Given the description of an element on the screen output the (x, y) to click on. 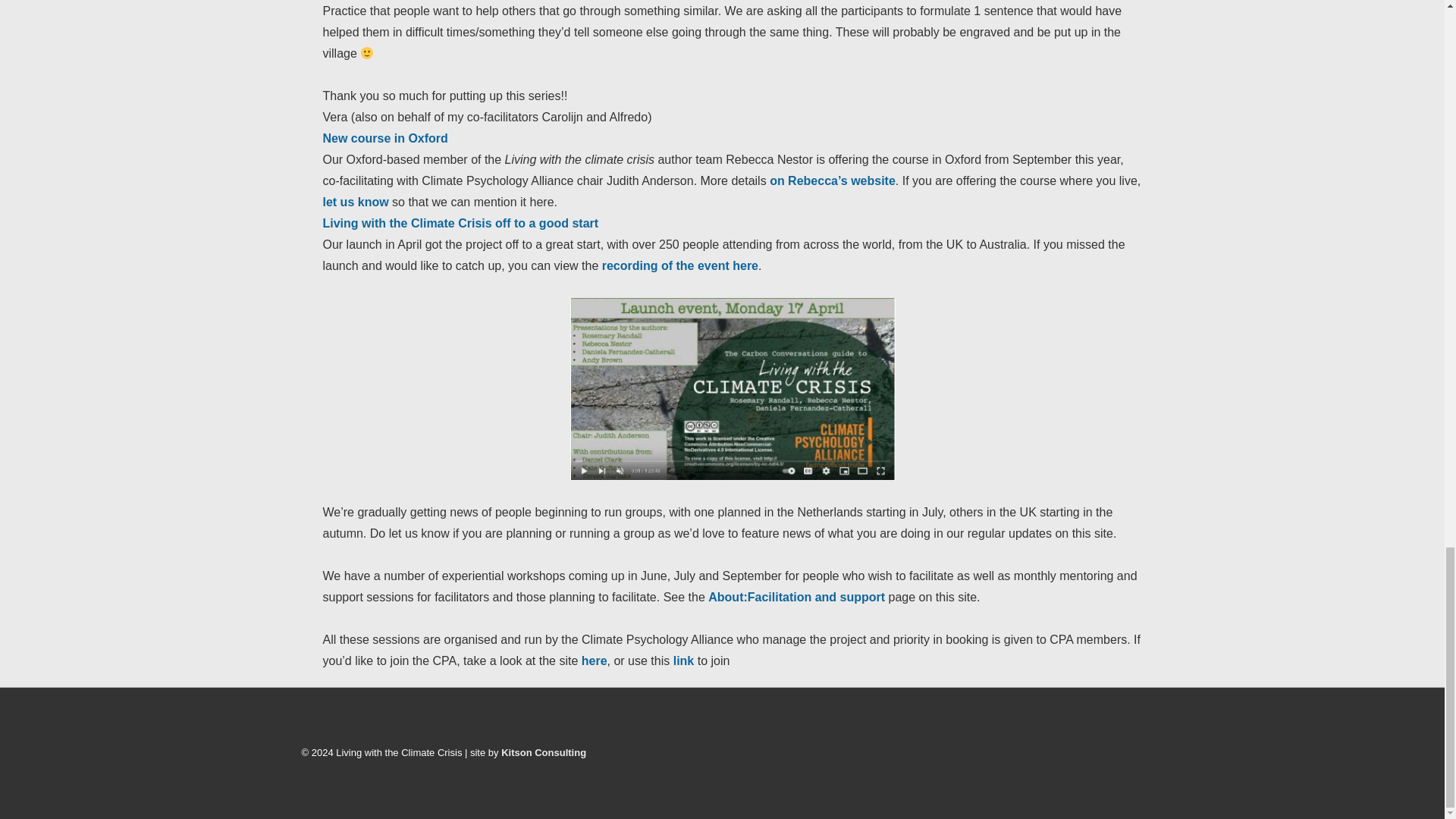
let us know (355, 201)
Kitson Consulting (543, 752)
About:Facilitation and support (796, 596)
link (681, 660)
recording of the event here (680, 265)
Living with the Climate Crisis off to a good start (460, 223)
New course in Oxford (385, 137)
here (593, 660)
